Given the description of an element on the screen output the (x, y) to click on. 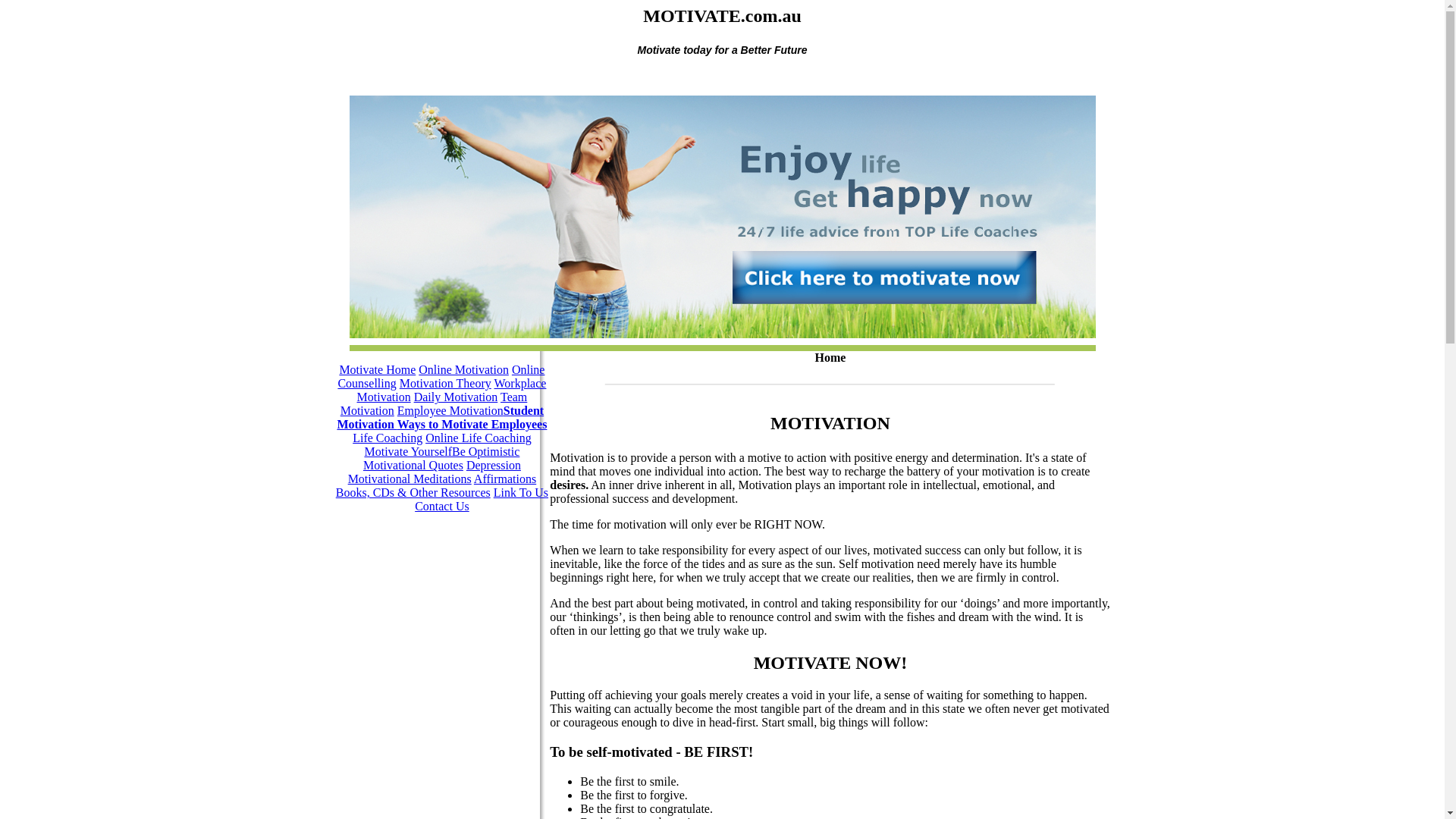
Depression Element type: text (493, 464)
Ways to Motivate Employees Element type: text (472, 423)
Be Optimistic Element type: text (485, 451)
Daily Motivation Element type: text (456, 396)
Motivational Meditations Element type: text (409, 478)
Affirmations Element type: text (504, 478)
Online Counselling Element type: text (440, 376)
Contact Us Element type: text (441, 505)
Online Life Coaching Element type: text (478, 437)
Student Motivation Element type: text (439, 417)
Motivate Yourself Element type: text (407, 451)
Life Coaching Element type: text (387, 437)
Motivational Quotes Element type: text (413, 464)
Link To Us Element type: text (520, 492)
Team Motivation Element type: text (433, 403)
Books, CDs & Other Resources Element type: text (412, 492)
Workplace Motivation Element type: text (451, 389)
Online Motivation Element type: text (463, 369)
Motivate Home Element type: text (376, 369)
Motivation Theory Element type: text (445, 382)
Employee Motivation Element type: text (450, 410)
